Given the description of an element on the screen output the (x, y) to click on. 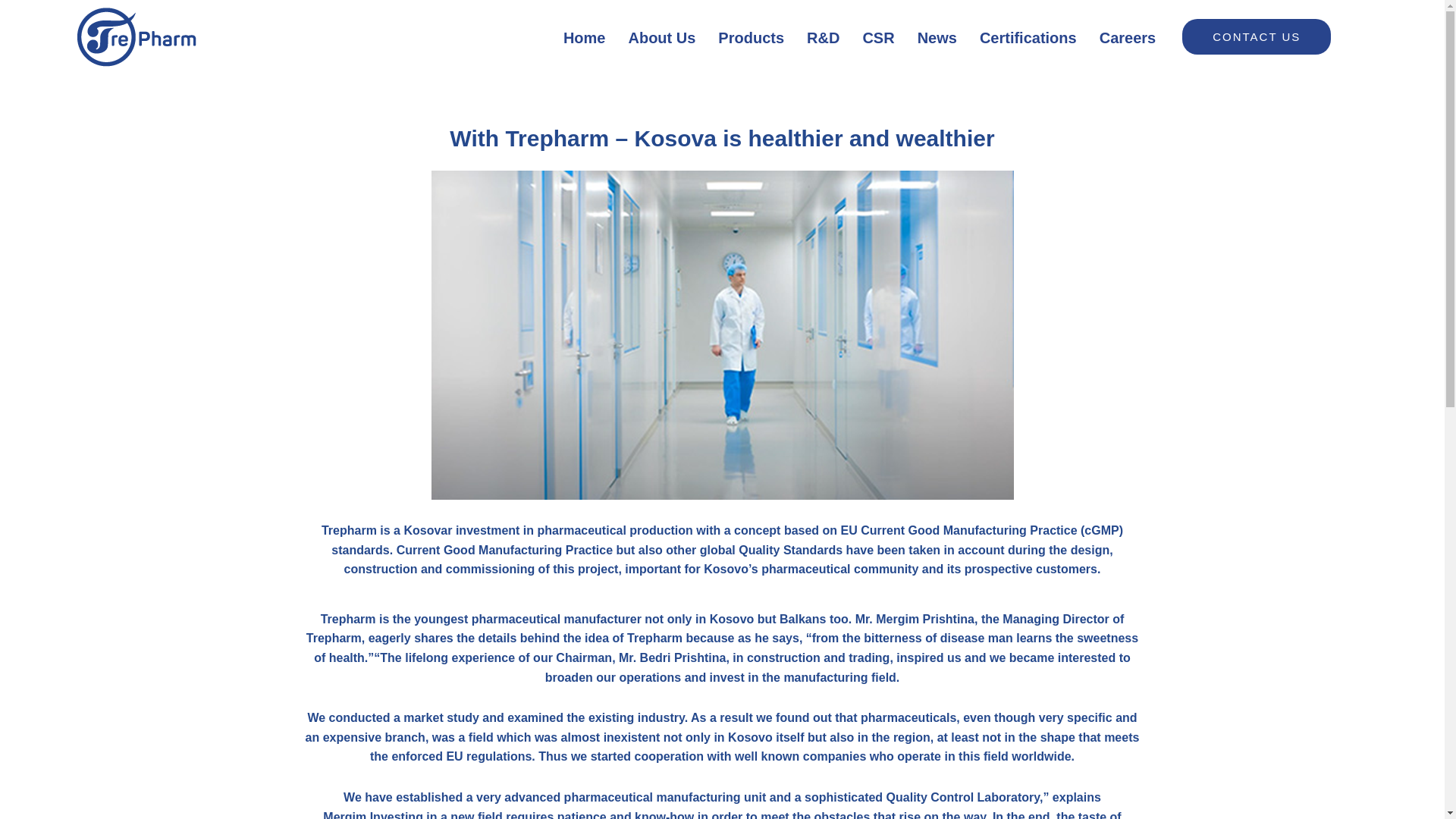
CONTACT US (1256, 36)
CSR (877, 37)
About Us (660, 37)
News (936, 37)
Certifications (1027, 37)
Careers (1127, 37)
Home (584, 37)
Products (750, 37)
